Given the description of an element on the screen output the (x, y) to click on. 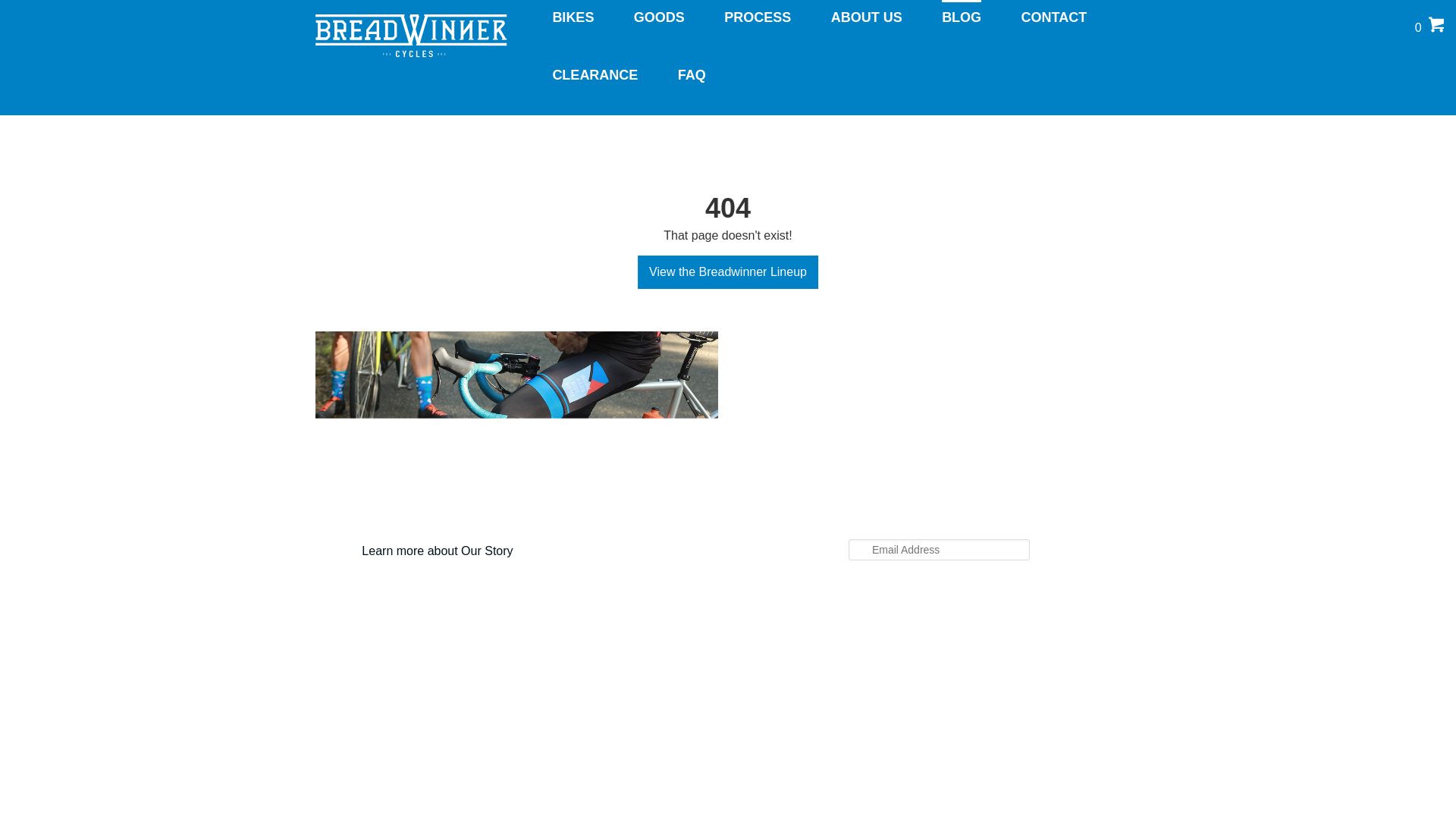
FAQ (692, 74)
BIKES (572, 17)
GOODS (658, 17)
Sign Up Now (48, 13)
Breadwinner Cycles (410, 52)
0 (1429, 29)
BLOG (961, 17)
ABOUT US (866, 17)
Learn more about Our Story (436, 550)
View the Breadwinner Lineup (727, 272)
CLEARANCE (594, 74)
CONTACT (1054, 17)
PROCESS (756, 17)
